Given the description of an element on the screen output the (x, y) to click on. 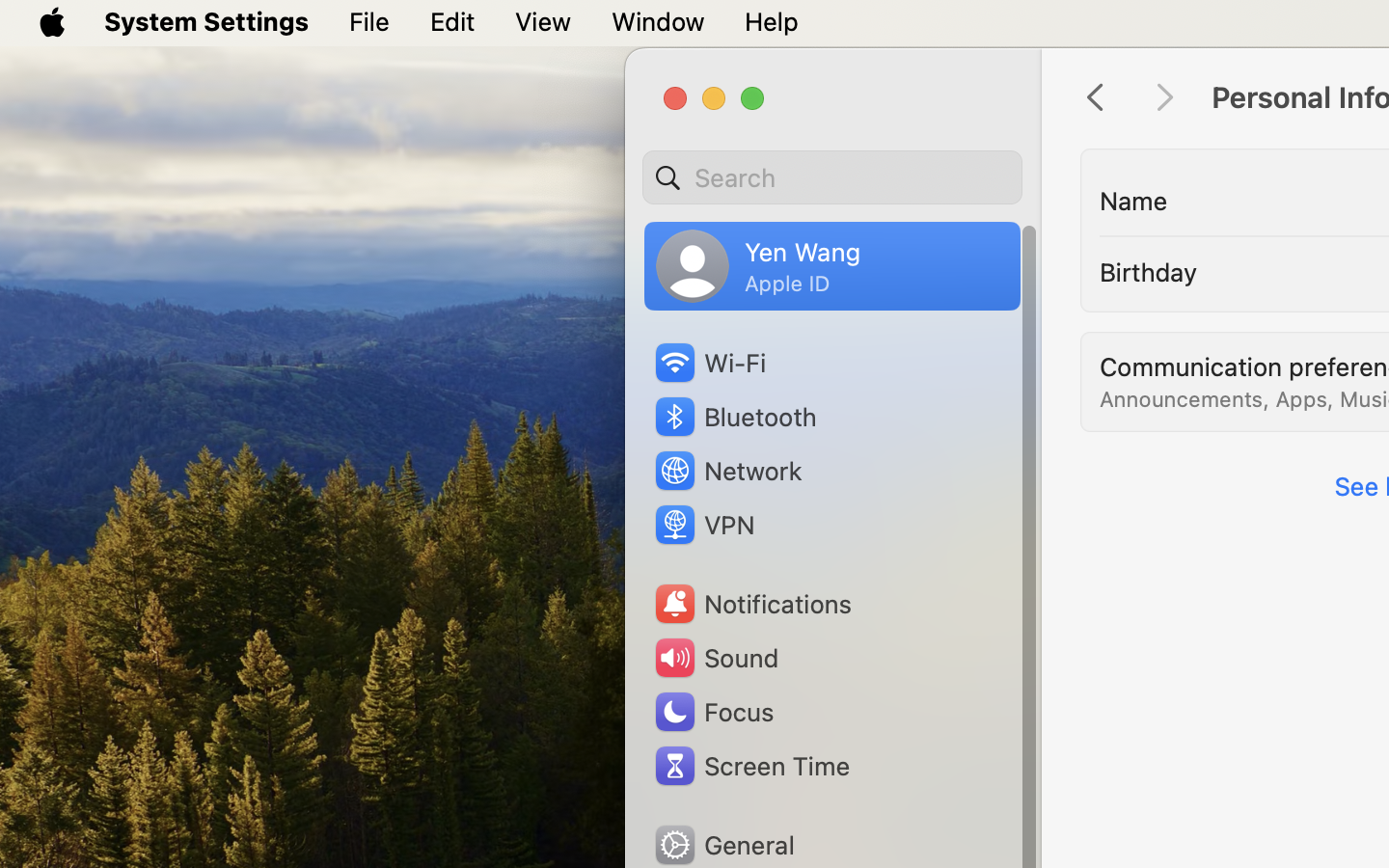
Yen Wang, Apple ID Element type: AXStaticText (757, 265)
Wi‑Fi Element type: AXStaticText (708, 362)
Birthday Element type: AXStaticText (1148, 271)
Notifications Element type: AXStaticText (752, 603)
Focus Element type: AXStaticText (712, 711)
